Given the description of an element on the screen output the (x, y) to click on. 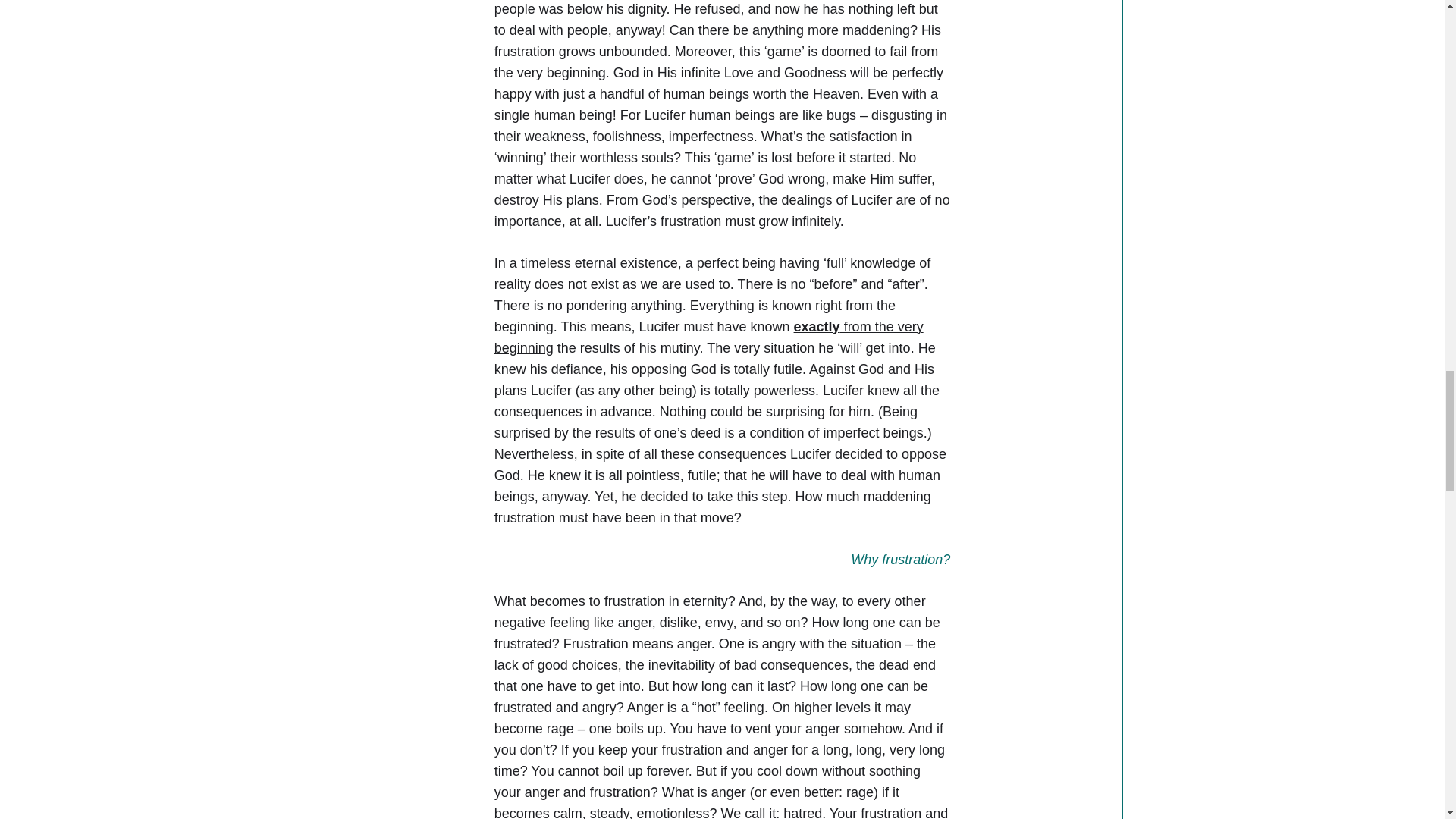
Why frustration? (900, 559)
